Given the description of an element on the screen output the (x, y) to click on. 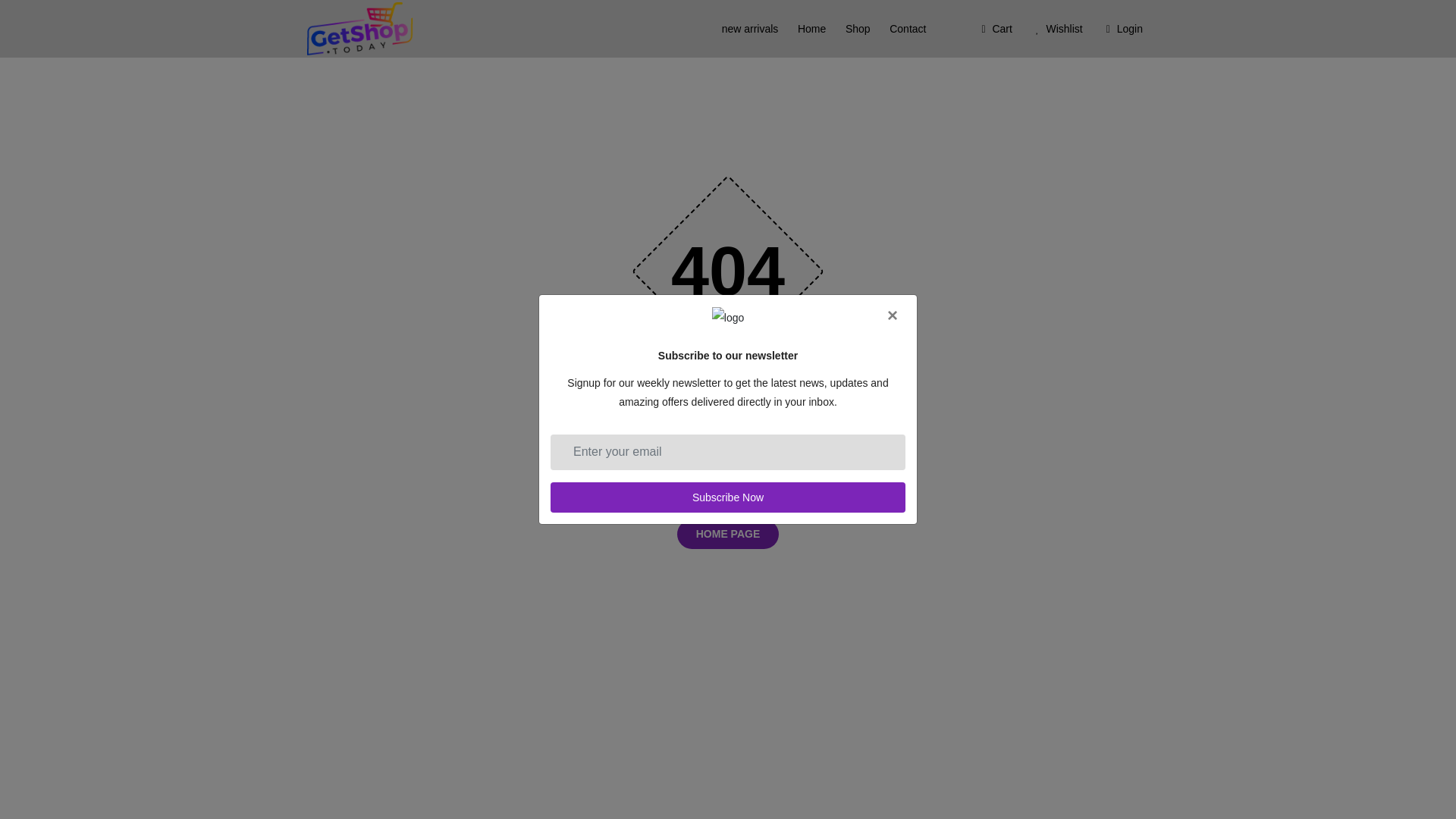
Subscribe Now (727, 497)
HOME PAGE (727, 534)
Wishlist (1057, 28)
Cart (994, 28)
Login (1120, 28)
new arrivals (749, 28)
